Given the description of an element on the screen output the (x, y) to click on. 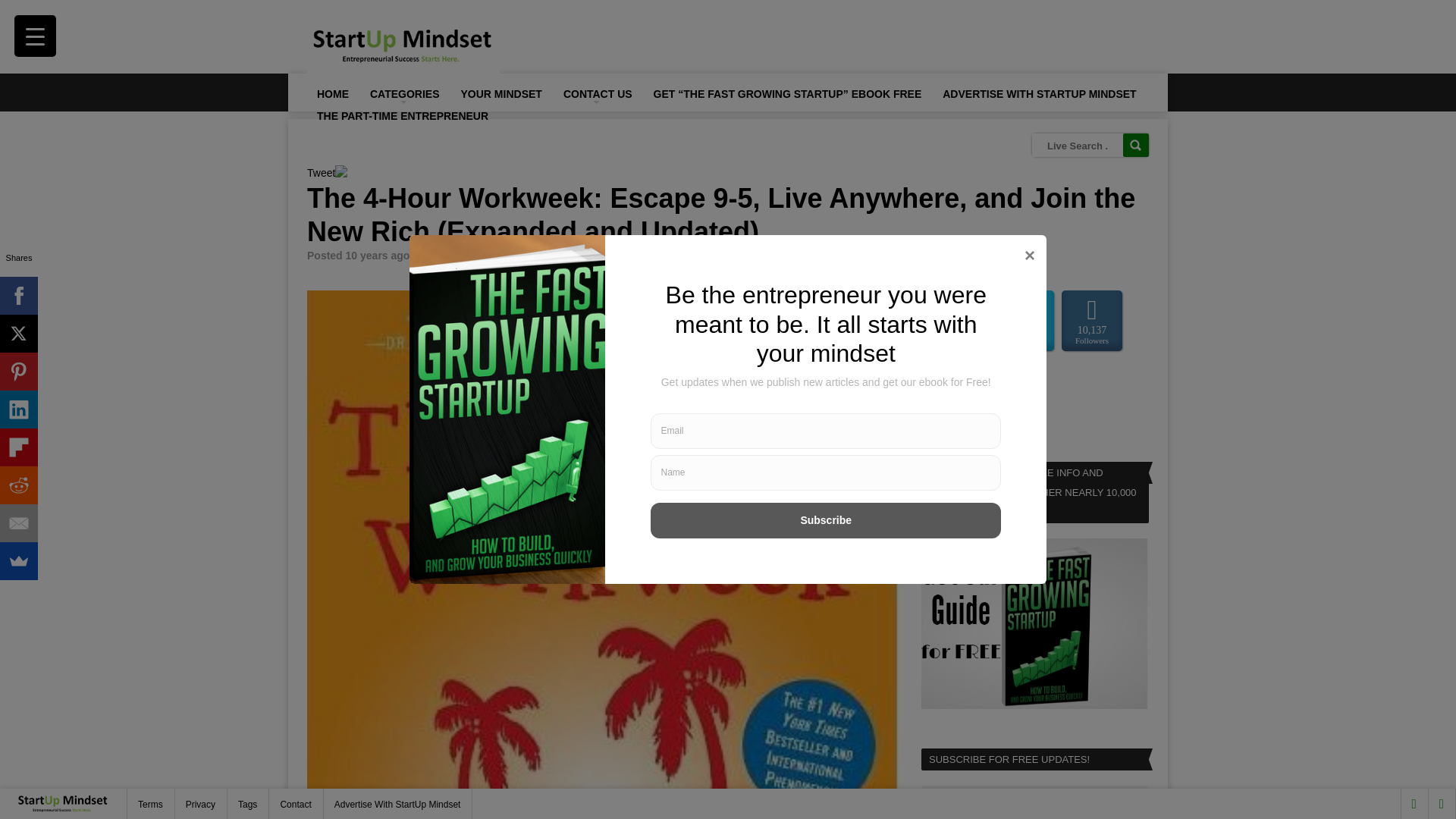
Tweet (320, 173)
ADVERTISE WITH STARTUP MINDSET (1038, 92)
YOUR MINDSET (501, 92)
Take Action Now! (293, 15)
Search (1135, 145)
CONTACT US (597, 92)
Posts by StartUp Mindset (468, 255)
CATEGORIES (403, 92)
Search (1135, 145)
THE PART-TIME ENTREPRENEUR (402, 115)
HOME (332, 92)
StartUp Mindset (468, 255)
